Given the description of an element on the screen output the (x, y) to click on. 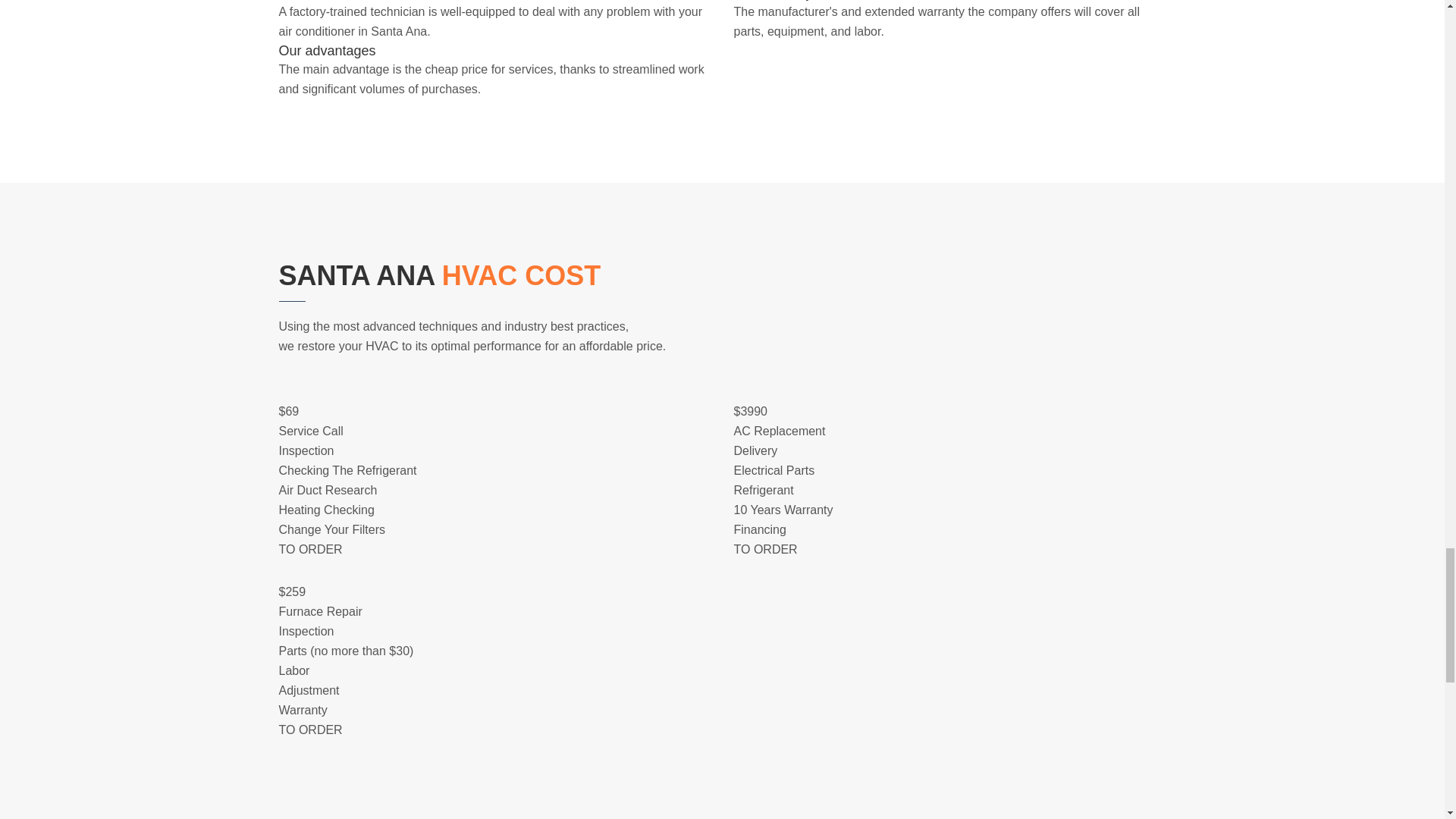
TO ORDER (310, 549)
TO ORDER (310, 730)
TO ORDER (765, 549)
